Given the description of an element on the screen output the (x, y) to click on. 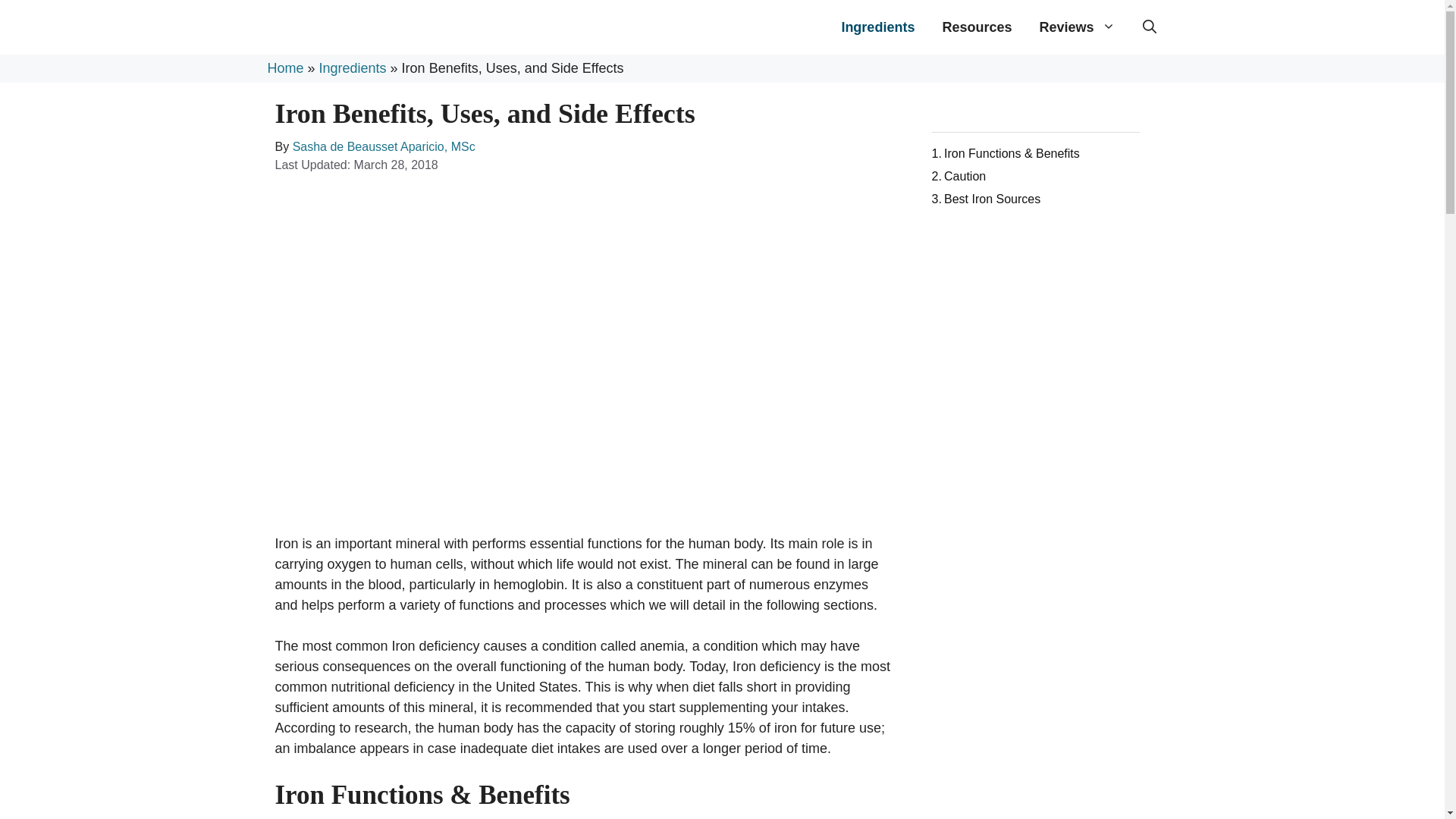
Caution (958, 176)
Sasha de Beausset Aparicio, MSc (384, 146)
Caution (958, 176)
Reviews (1076, 26)
Best Iron Sources (986, 199)
Home (284, 68)
Resources (976, 26)
Ingredients (352, 68)
Ingredients (877, 26)
